Given the description of an element on the screen output the (x, y) to click on. 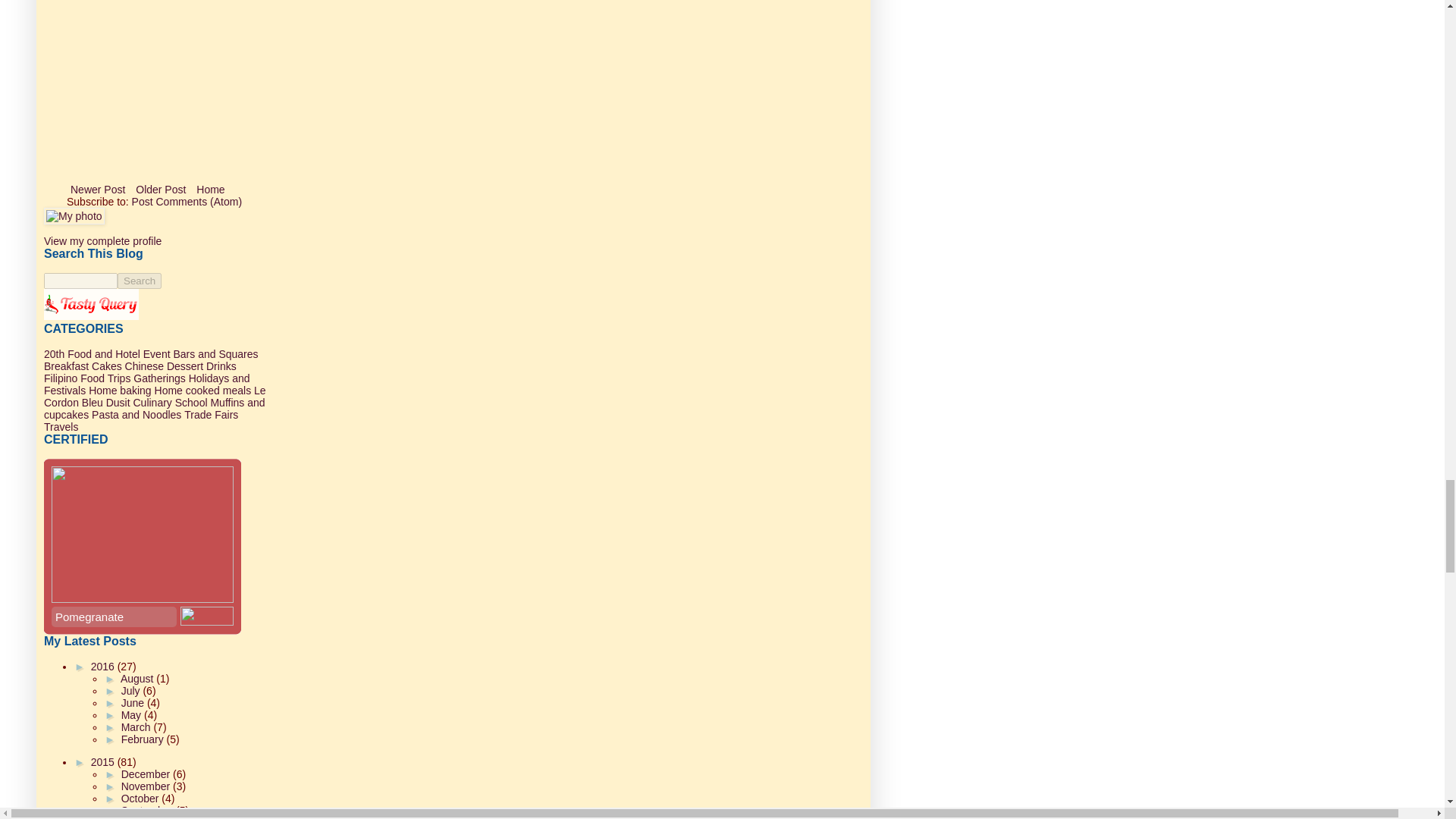
Tasty Query - recipes search engine (90, 316)
Older Post (160, 189)
Search (139, 280)
Home (210, 189)
20th Food and Hotel Event (106, 354)
Newer Post (97, 189)
Search (139, 280)
search (139, 280)
Cakes (106, 366)
search (80, 280)
Newer Post (97, 189)
Older Post (160, 189)
Breakfast (65, 366)
View my complete profile (102, 241)
Search (139, 280)
